Given the description of an element on the screen output the (x, y) to click on. 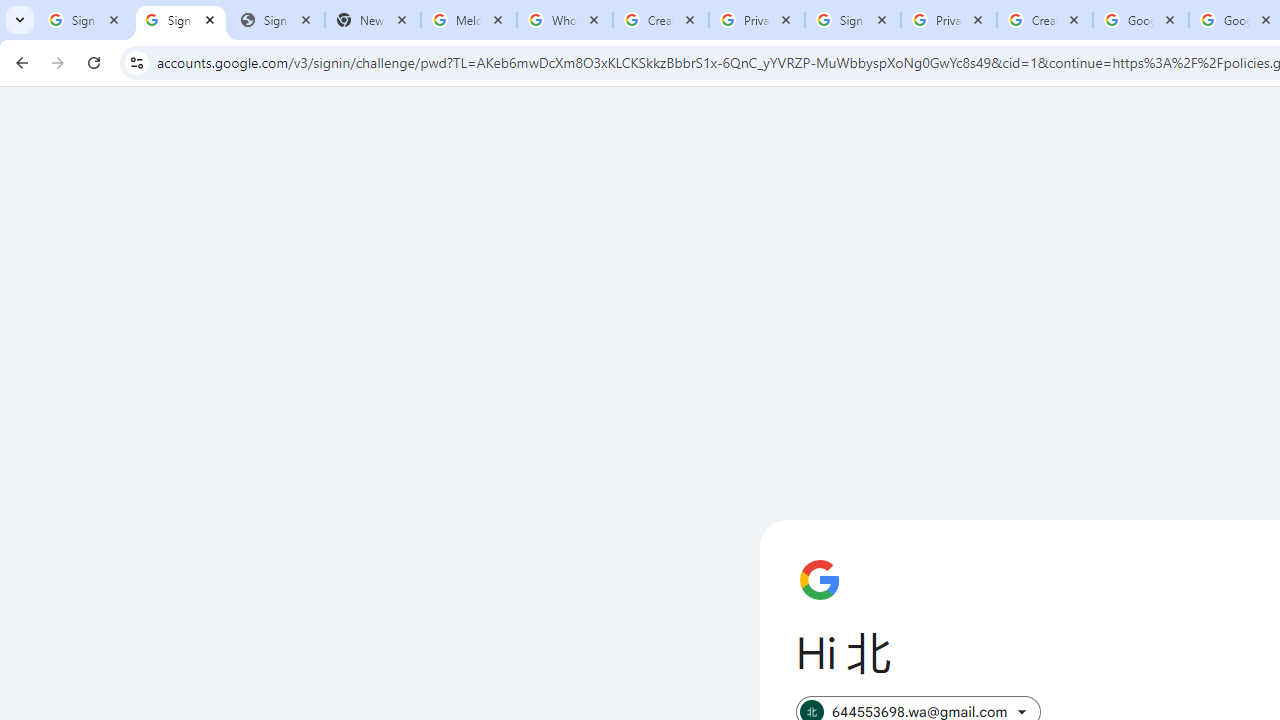
Sign in - Google Accounts (181, 20)
Who is my administrator? - Google Account Help (565, 20)
Sign In - USA TODAY (277, 20)
New Tab (373, 20)
Sign in - Google Accounts (85, 20)
